Given the description of an element on the screen output the (x, y) to click on. 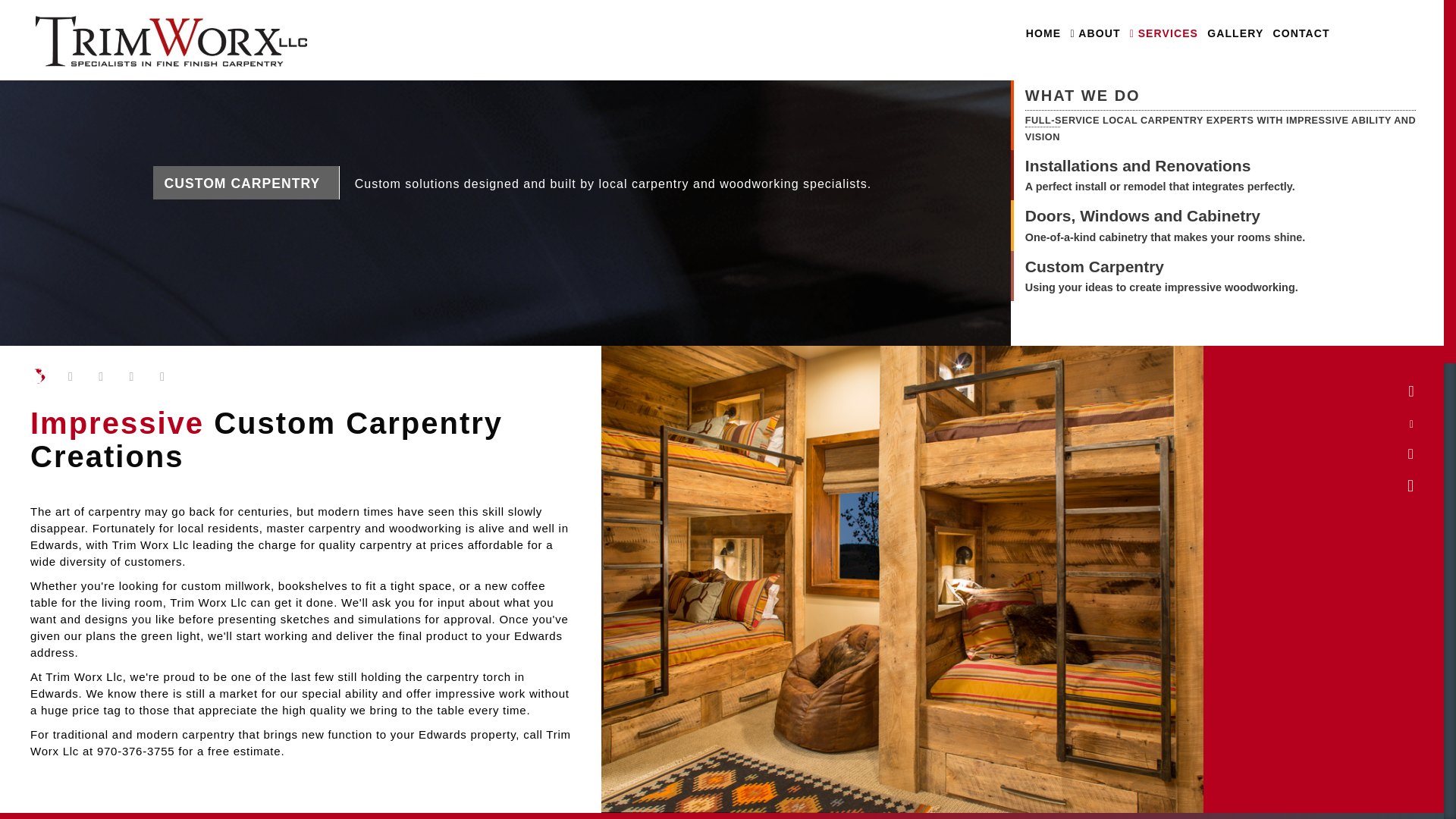
HOME (1043, 33)
CONTACT (1301, 33)
Doors, Windows and Cabinetry (1164, 215)
 ABOUT (1094, 33)
Custom Carpentry (1161, 266)
 SERVICES (1163, 33)
Installations and Renovations (1160, 165)
HOME  ABOUT  SERVICES GALLERY CONTACT (722, 40)
GALLERY (1235, 33)
WHAT WE DO (1228, 96)
